Given the description of an element on the screen output the (x, y) to click on. 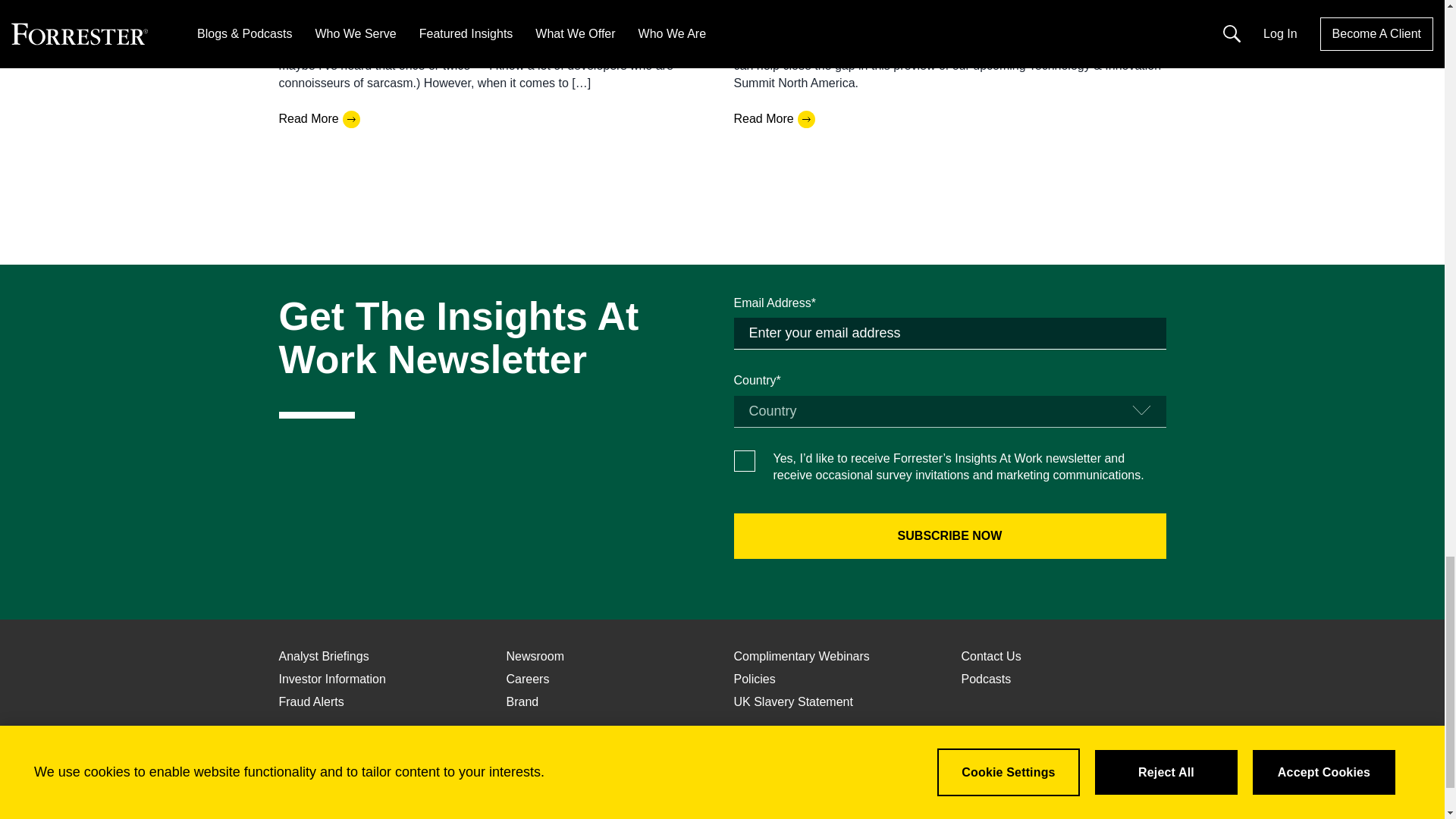
Subscribe Now (949, 535)
